Given the description of an element on the screen output the (x, y) to click on. 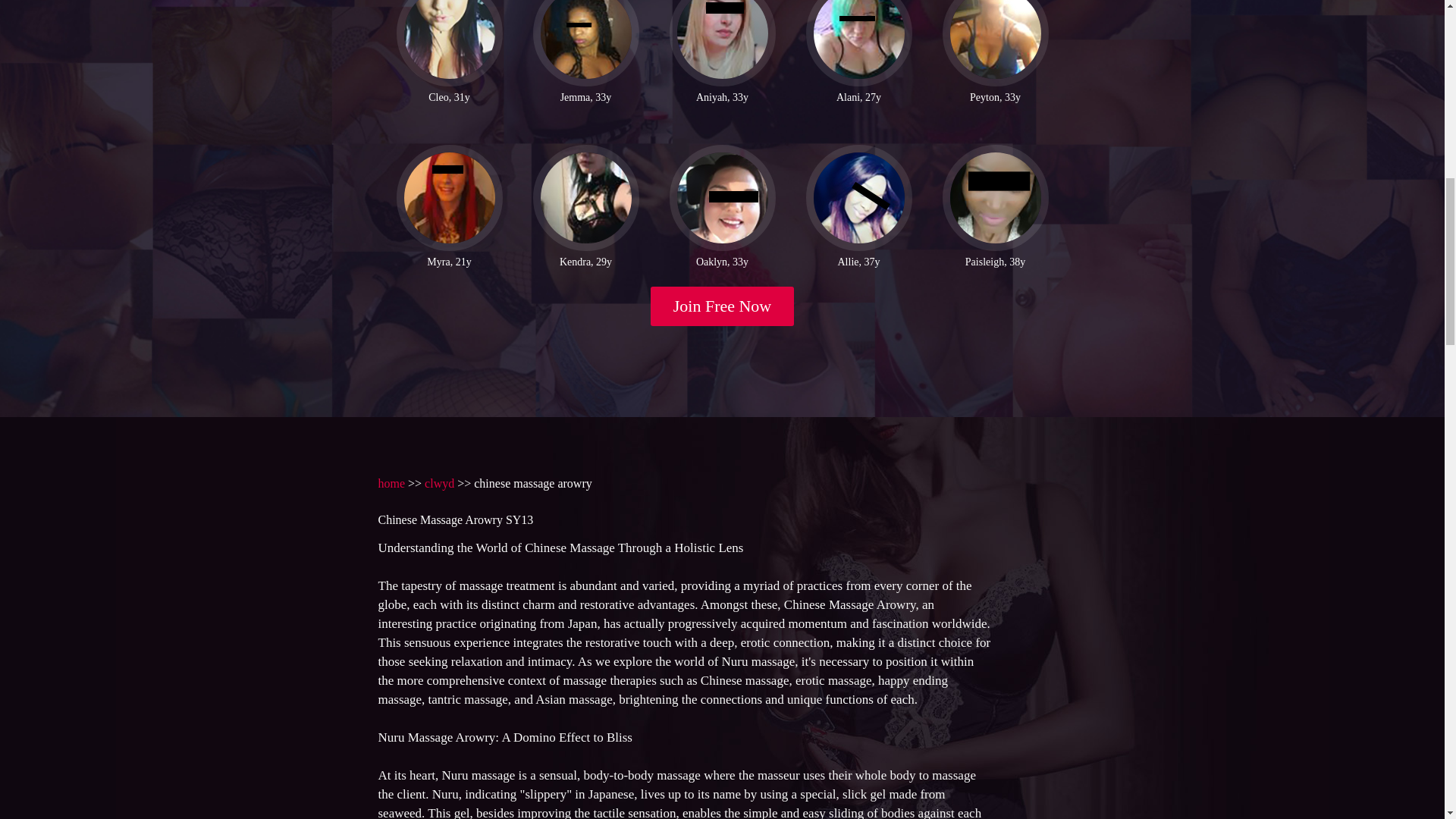
clwyd (439, 482)
home (390, 482)
Join (722, 305)
Join Free Now (722, 305)
